Given the description of an element on the screen output the (x, y) to click on. 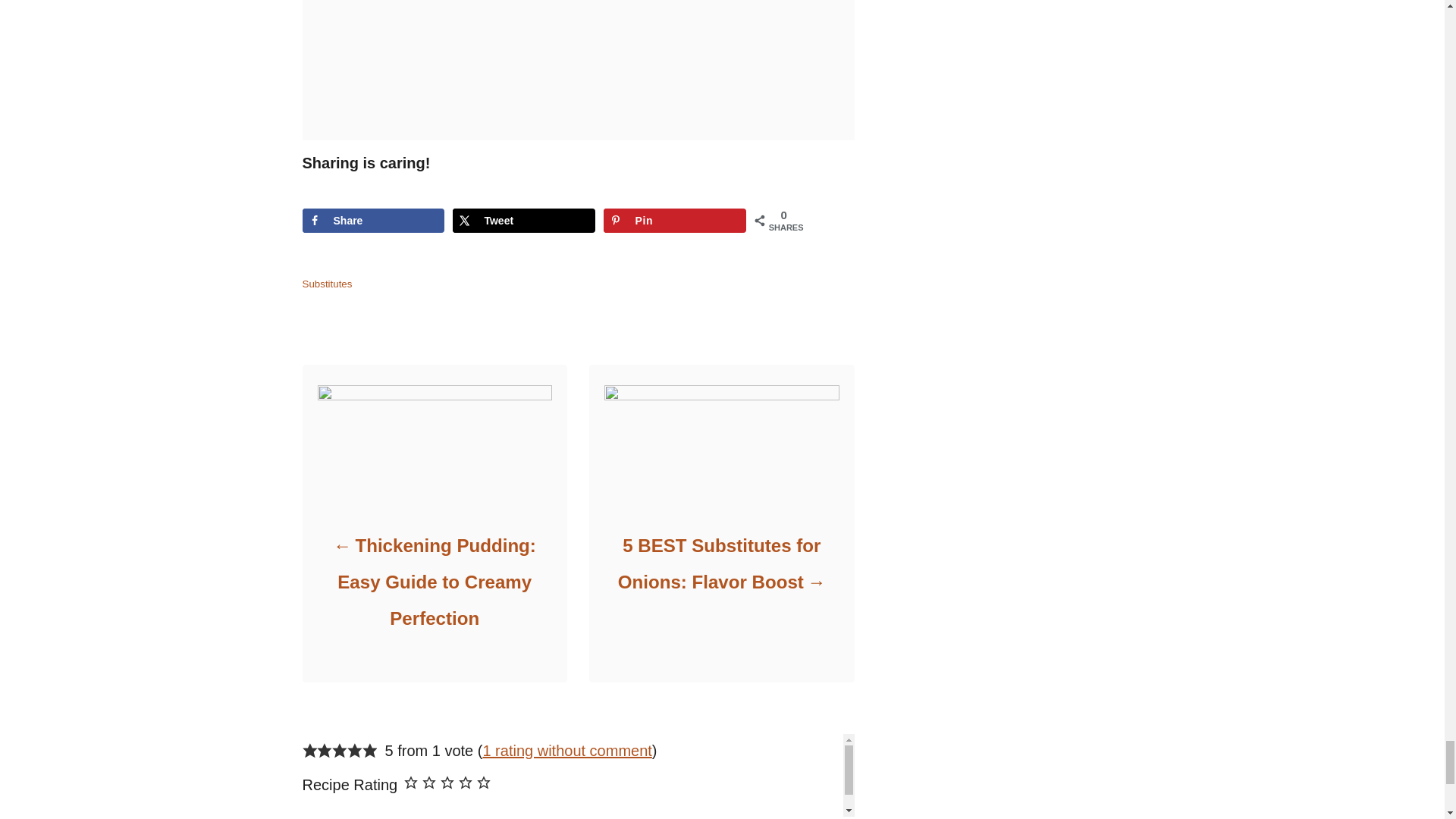
Share on X (523, 220)
Save to Pinterest (674, 220)
Share on Facebook (372, 220)
